Given the description of an element on the screen output the (x, y) to click on. 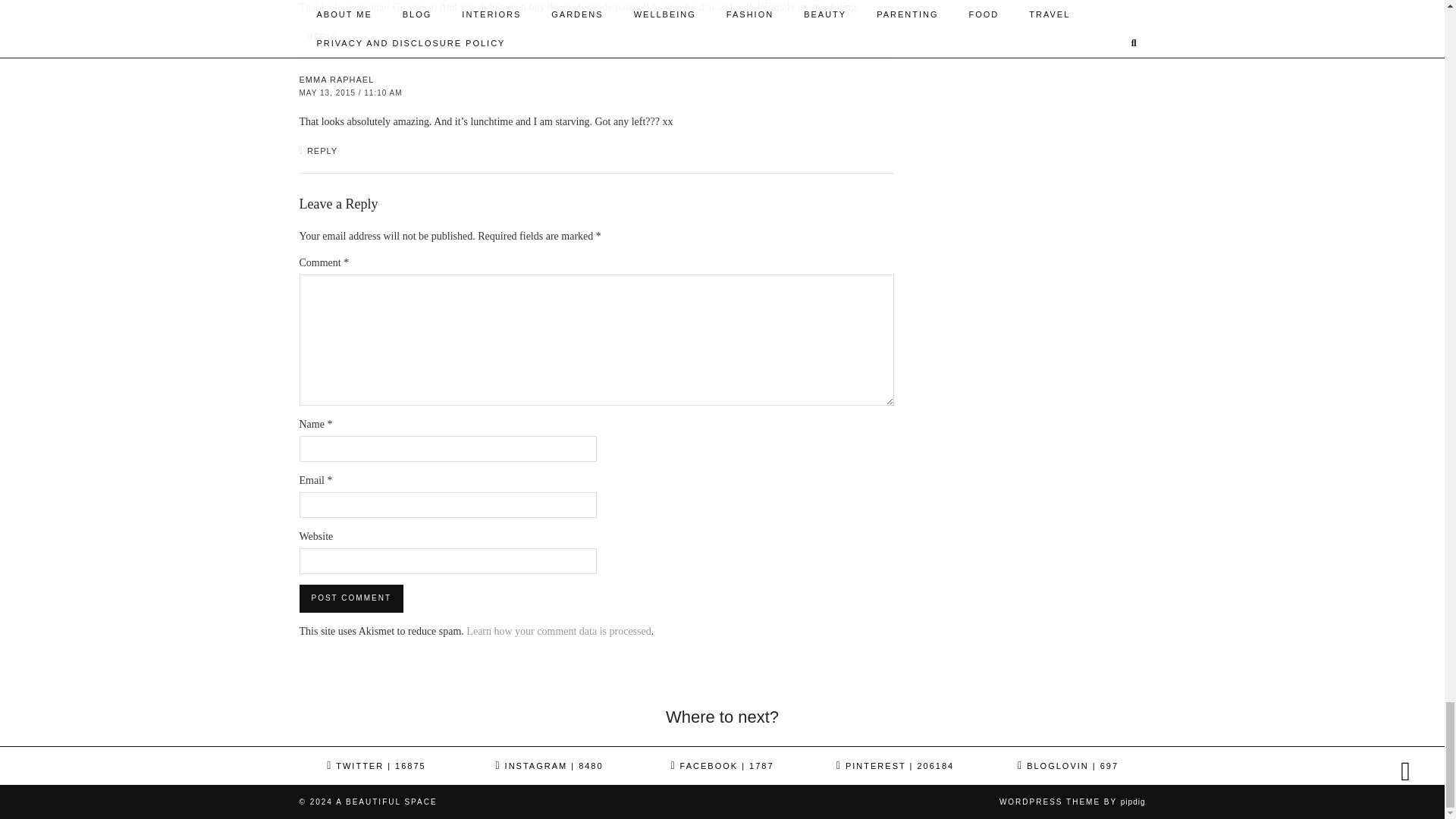
EMMA RAPHAEL (336, 79)
REPLY (322, 150)
Post Comment (350, 597)
REPLY (322, 35)
